Given the description of an element on the screen output the (x, y) to click on. 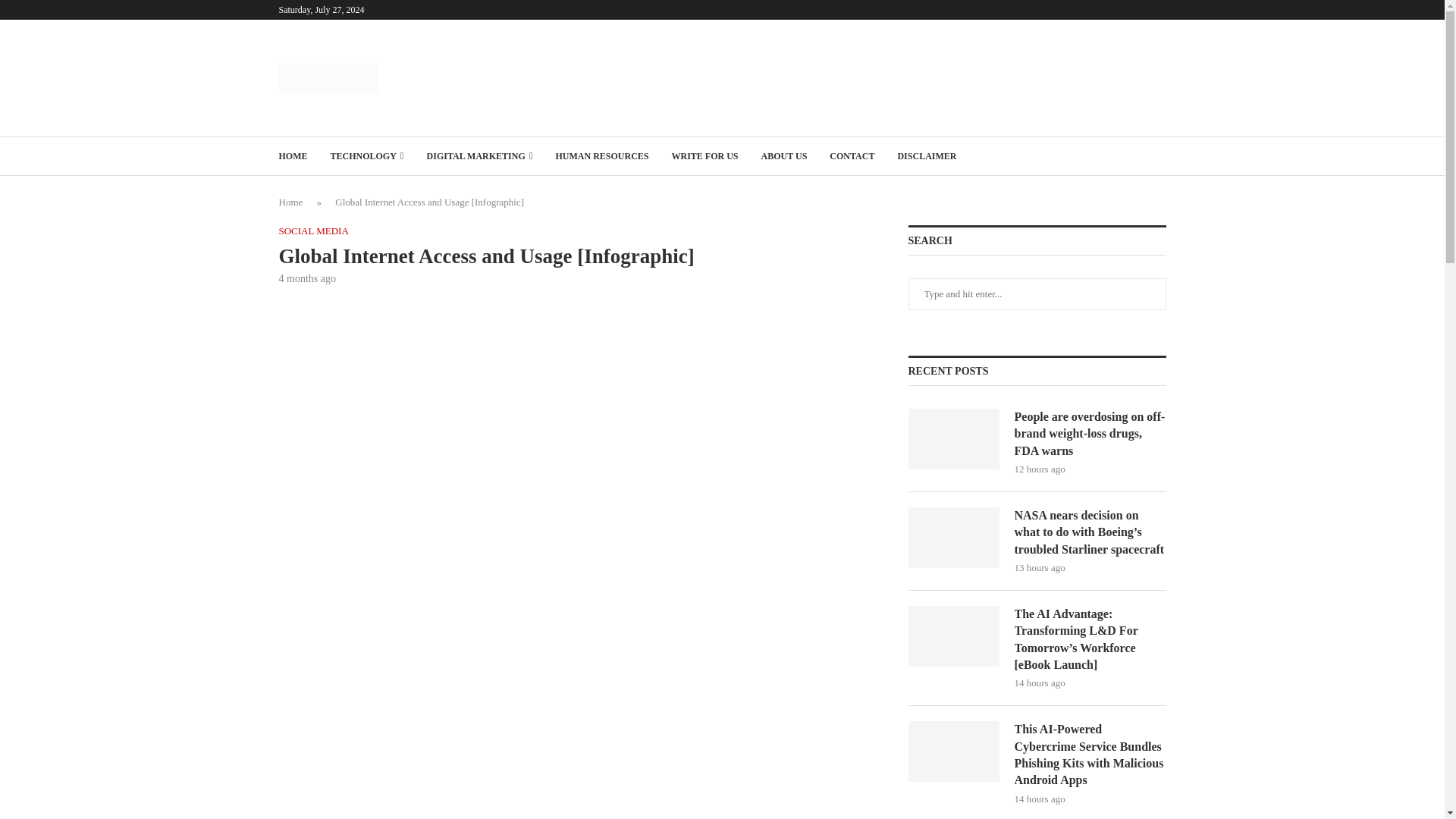
TECHNOLOGY (367, 155)
HOME (293, 155)
DIGITAL MARKETING (479, 155)
HUMAN RESOURCES (600, 155)
